Given the description of an element on the screen output the (x, y) to click on. 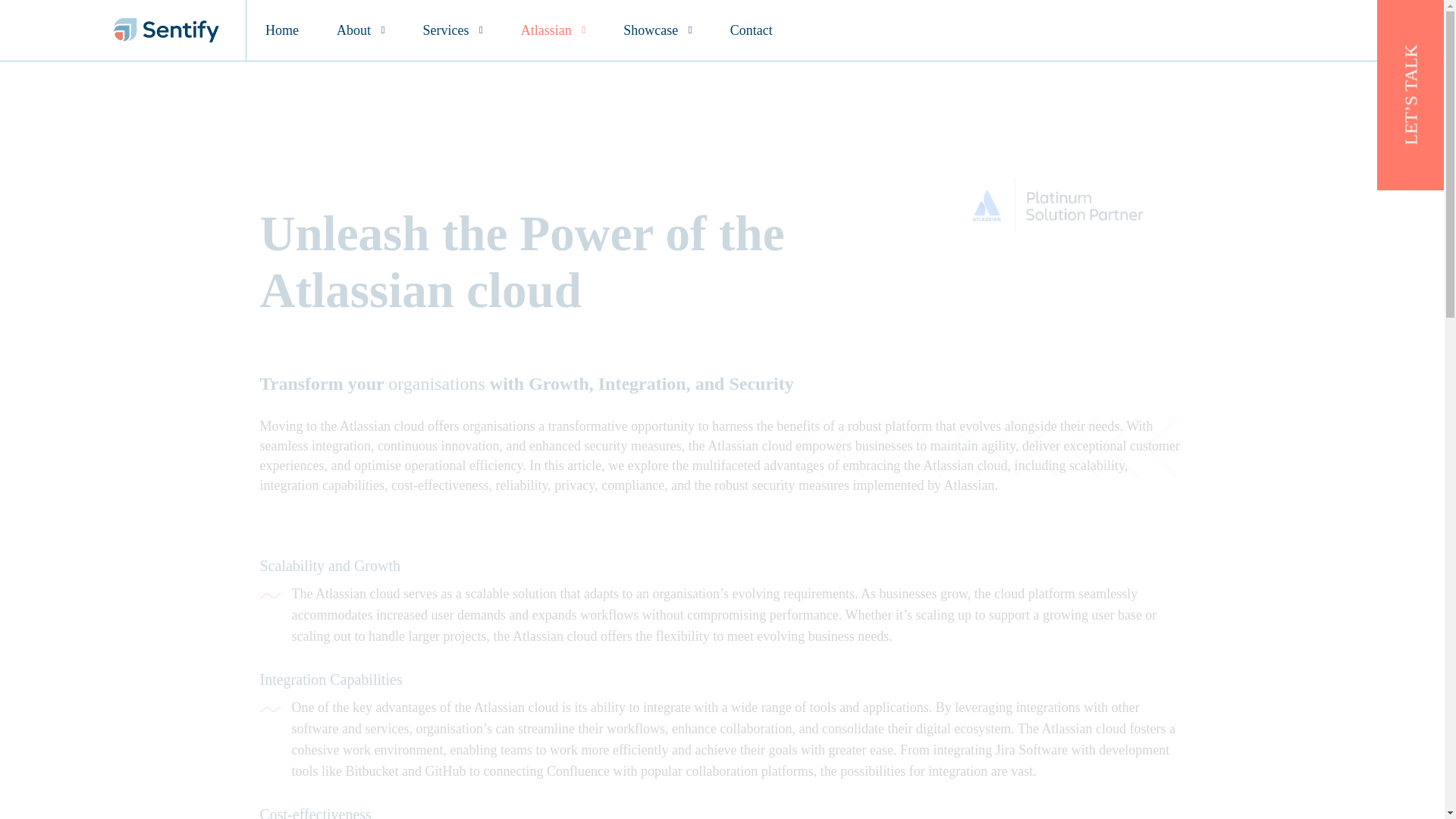
Services (451, 30)
Home (281, 30)
About (360, 30)
Atlassian (553, 30)
